Given the description of an element on the screen output the (x, y) to click on. 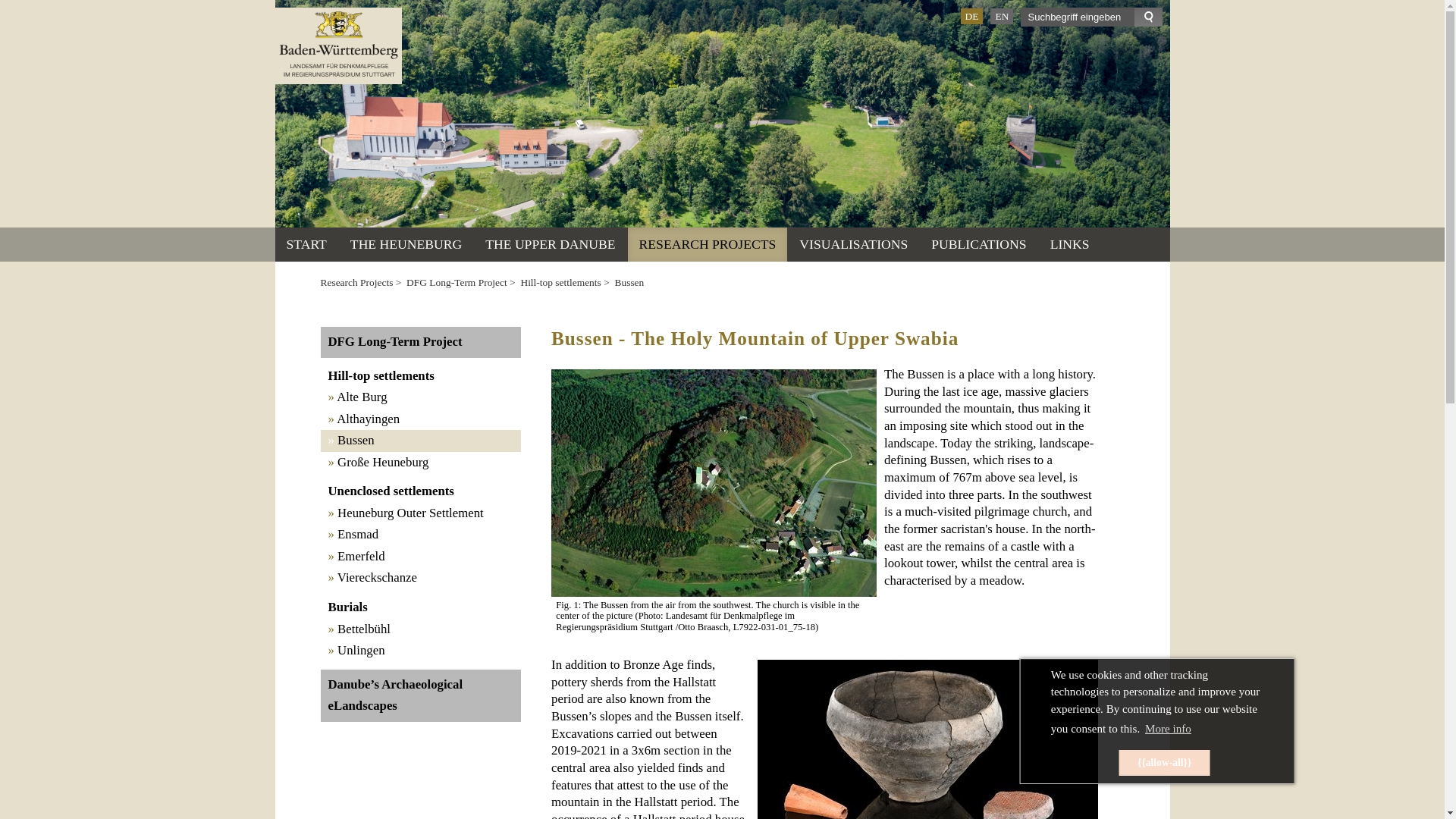
START (306, 244)
RESEARCH PROJECTS (707, 244)
DE (970, 16)
EN (1001, 16)
VISUALISATIONS (852, 244)
THE HEUNEBURG (406, 244)
THE UPPER DANUBE (550, 244)
